Given the description of an element on the screen output the (x, y) to click on. 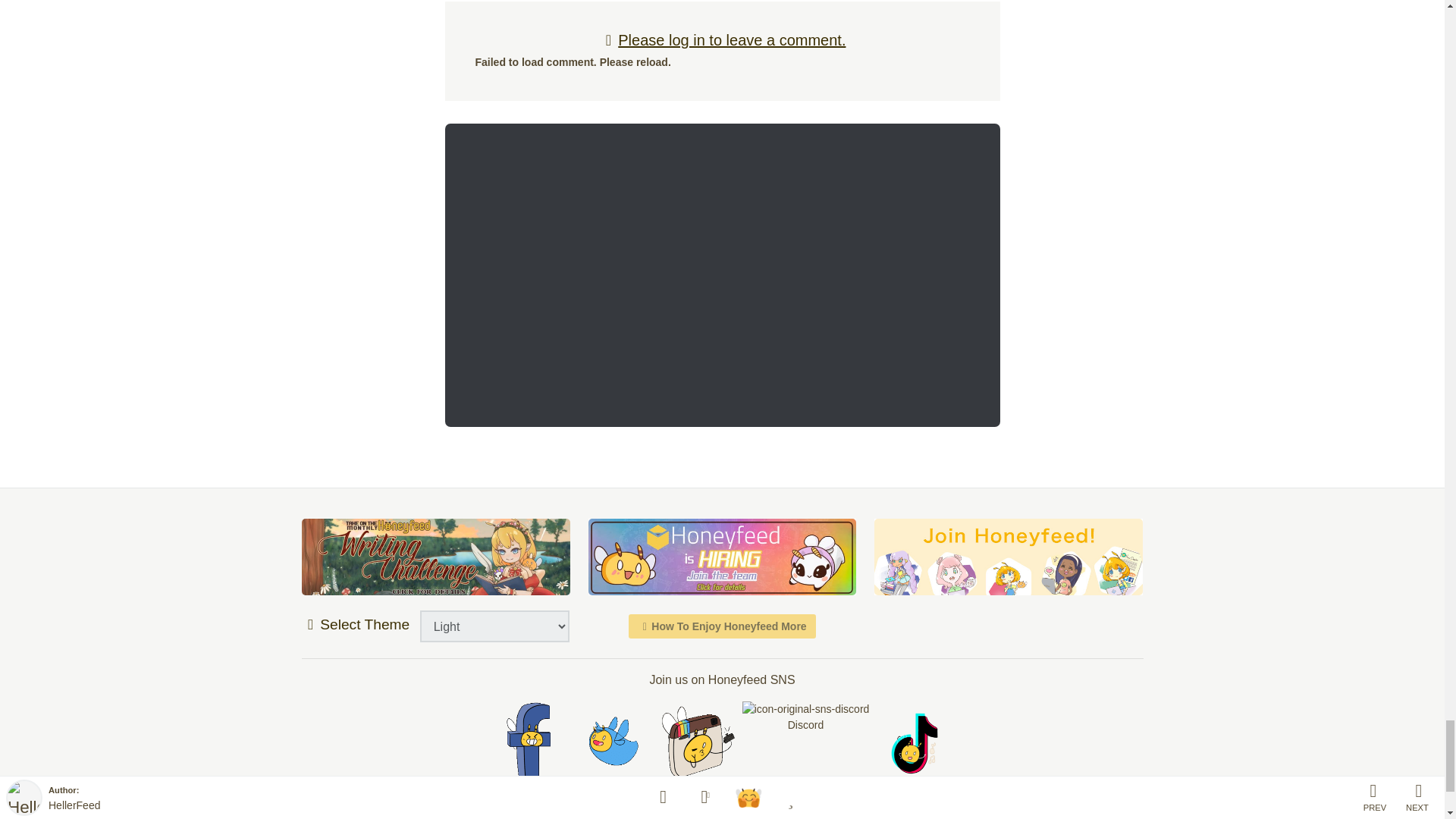
Please log in to leave a comment. (721, 39)
